Given the description of an element on the screen output the (x, y) to click on. 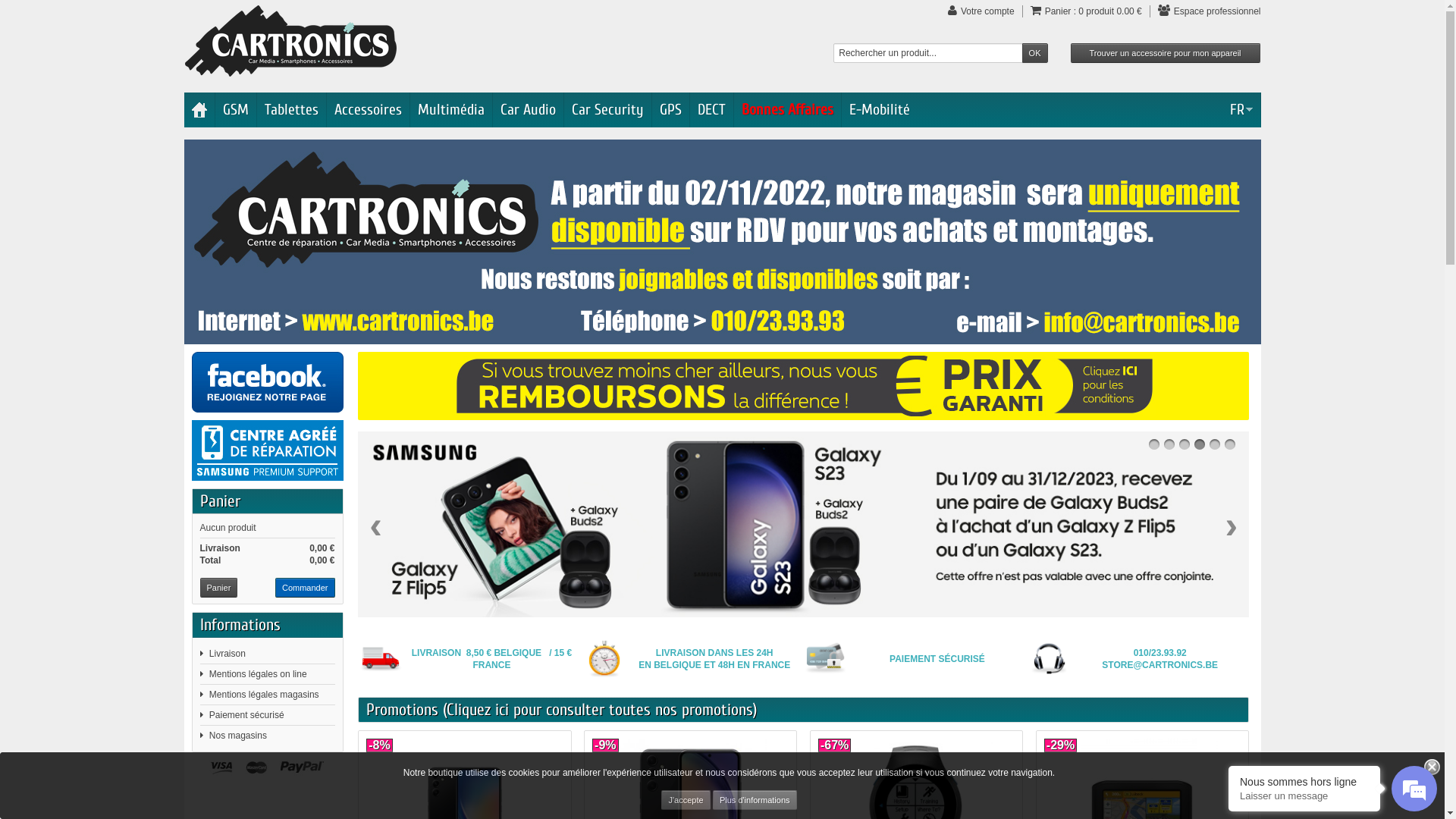
Car Security Element type: text (607, 109)
Commander Element type: text (305, 587)
Livraison Element type: text (227, 653)
Cartronics Element type: hover (290, 39)
Informations Element type: text (240, 624)
Votre compte Element type: text (985, 11)
Panier Element type: text (219, 587)
Ouverture RDV Element type: hover (721, 241)
Bonnes Affaires Element type: text (787, 109)
Facebook Page Element type: hover (266, 381)
Prix garanti Element type: hover (803, 385)
DECT Element type: text (711, 109)
GPS Element type: text (670, 109)
FR Element type: text (1241, 109)
J'accepte Element type: text (685, 799)
Espace professionnel Element type: text (1215, 11)
Tablettes Element type: text (290, 109)
OK Element type: text (1035, 52)
Plus d'informations Element type: text (754, 799)
Accessoires Element type: text (367, 109)
GSM Element type: text (235, 109)
Accueil Element type: hover (198, 109)
SAV Cartronics Element type: hover (266, 450)
Car Audio Element type: text (527, 109)
Panier Element type: text (220, 501)
Nos magasins Element type: text (237, 735)
Trouver un accessoire pour mon appareil Element type: text (1165, 52)
